Given the description of an element on the screen output the (x, y) to click on. 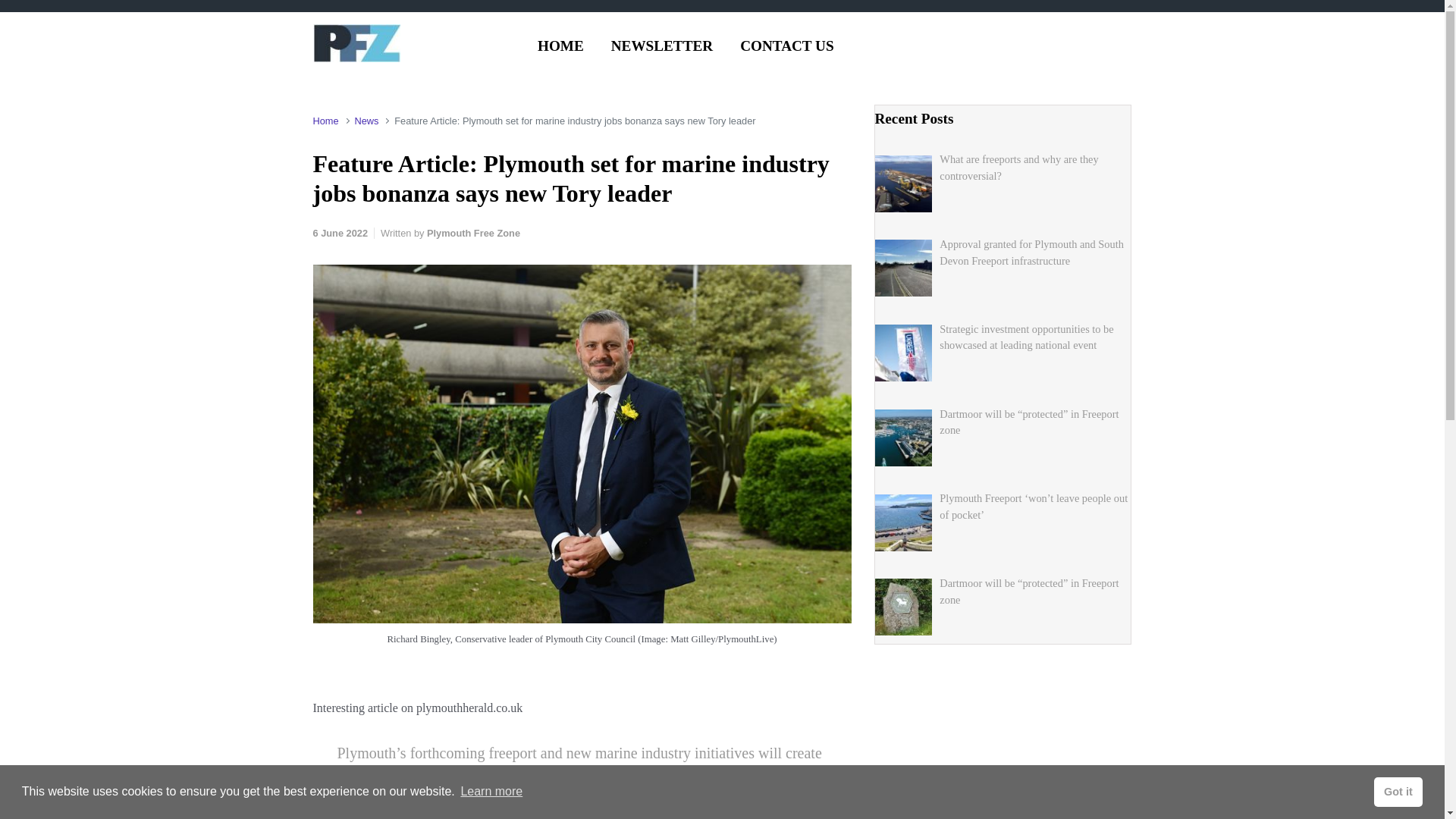
Got it (1398, 791)
Learn more (491, 791)
Home (325, 120)
HOME (560, 46)
NEWSLETTER (662, 46)
CONTACT US (786, 46)
What are freeports and why are they controversial? (1018, 167)
Skip to main content (16, 7)
News (365, 120)
News (365, 120)
View all posts by Plymouth Free Zone (472, 233)
Plymouth Free Zone (472, 233)
